Given the description of an element on the screen output the (x, y) to click on. 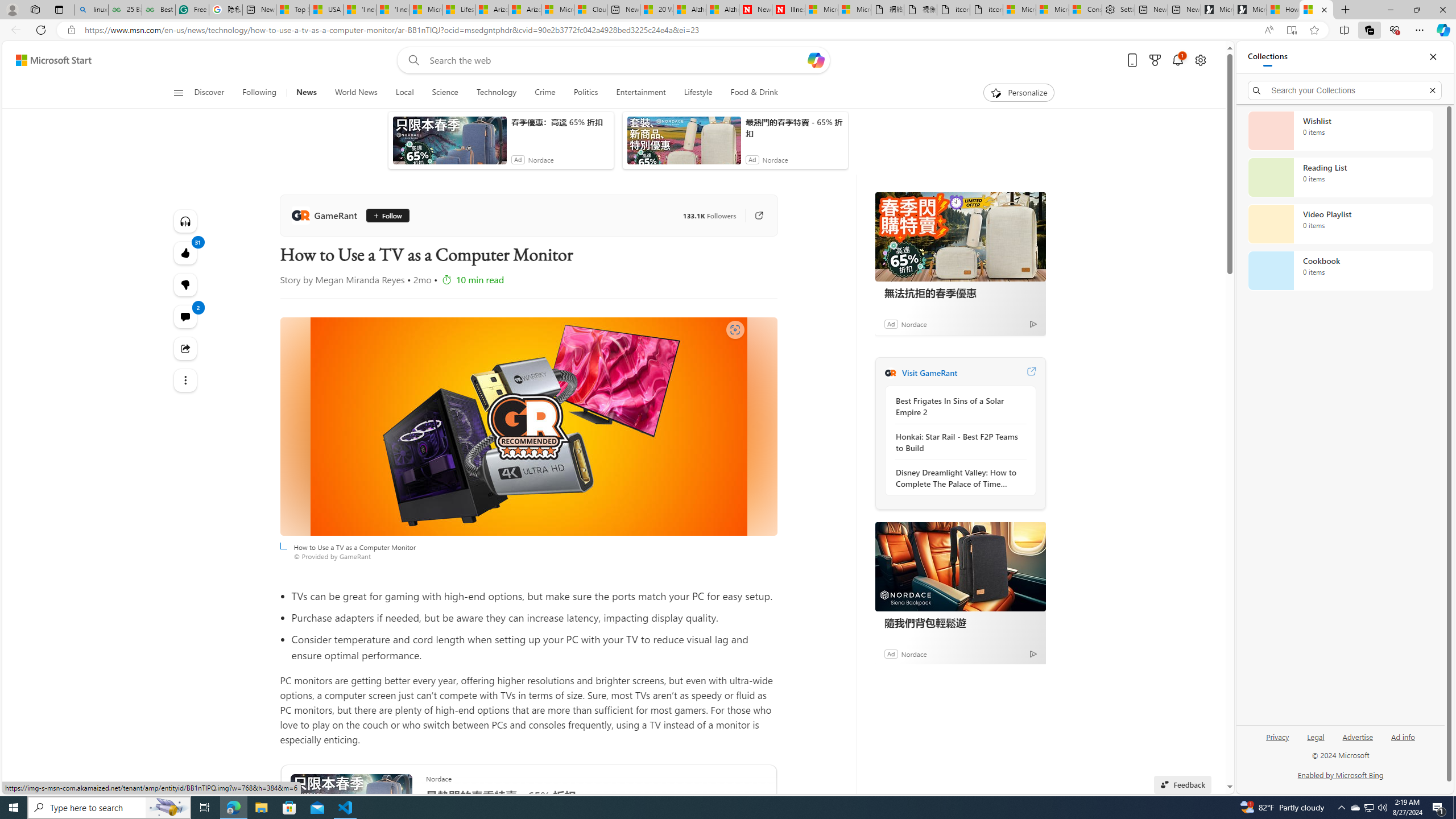
Address and search bar (669, 29)
Honkai: Star Rail - Best F2P Teams to Build (957, 441)
Privacy (1278, 736)
Legal (1315, 741)
Feedback (1182, 784)
Video Playlist collection, 0 items (1339, 223)
Free AI Writing Assistance for Students | Grammarly (192, 9)
Follow (387, 215)
To get missing image descriptions, open the context menu. (995, 92)
25 Basic Linux Commands For Beginners - GeeksforGeeks (125, 9)
